Given the description of an element on the screen output the (x, y) to click on. 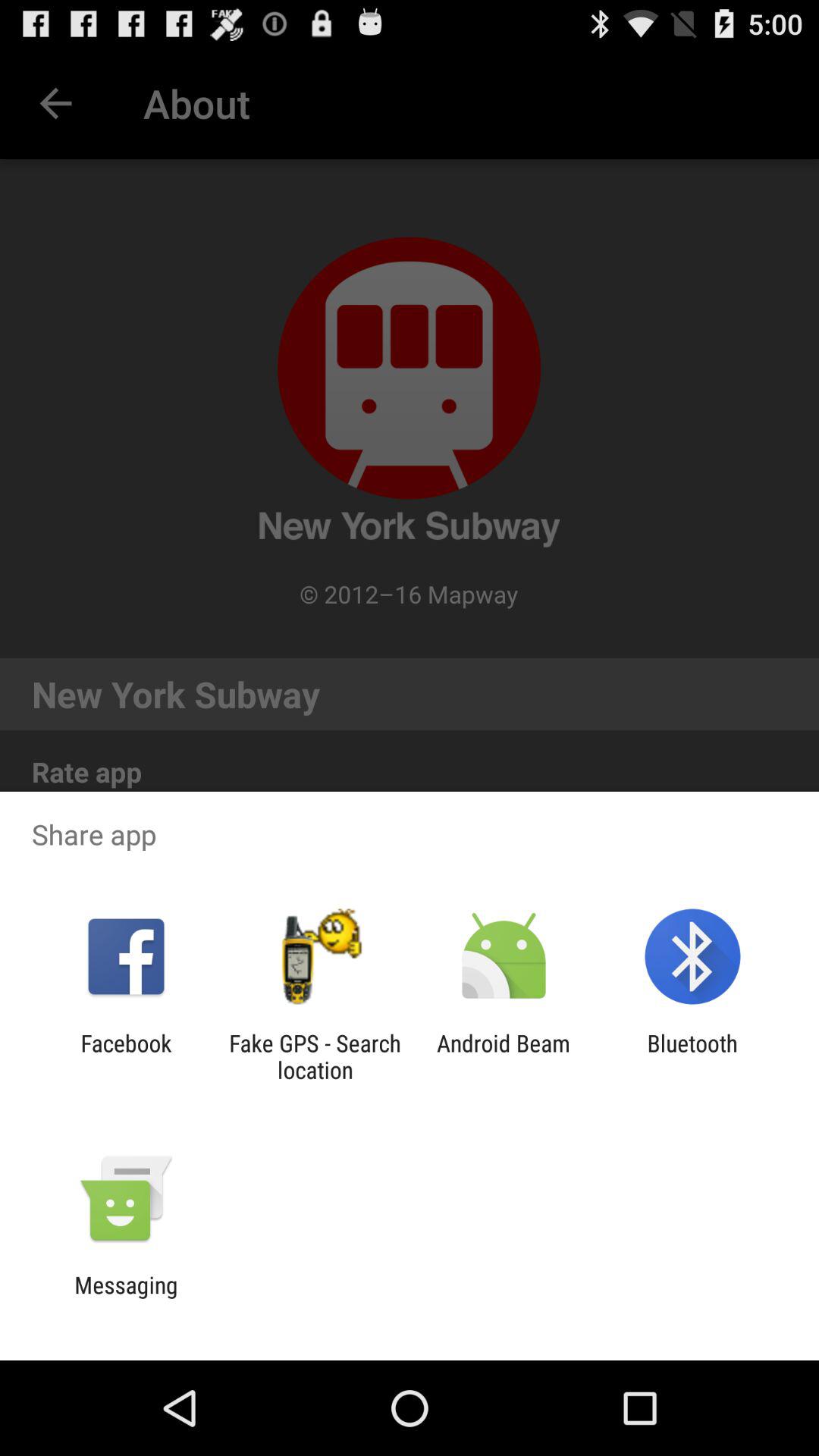
flip to fake gps search icon (314, 1056)
